Given the description of an element on the screen output the (x, y) to click on. 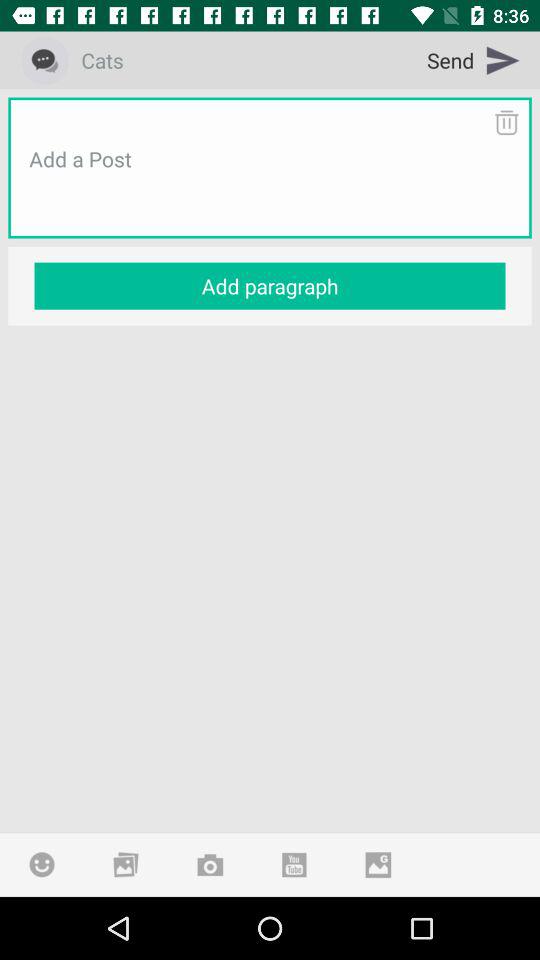
add a comment box (269, 183)
